Given the description of an element on the screen output the (x, y) to click on. 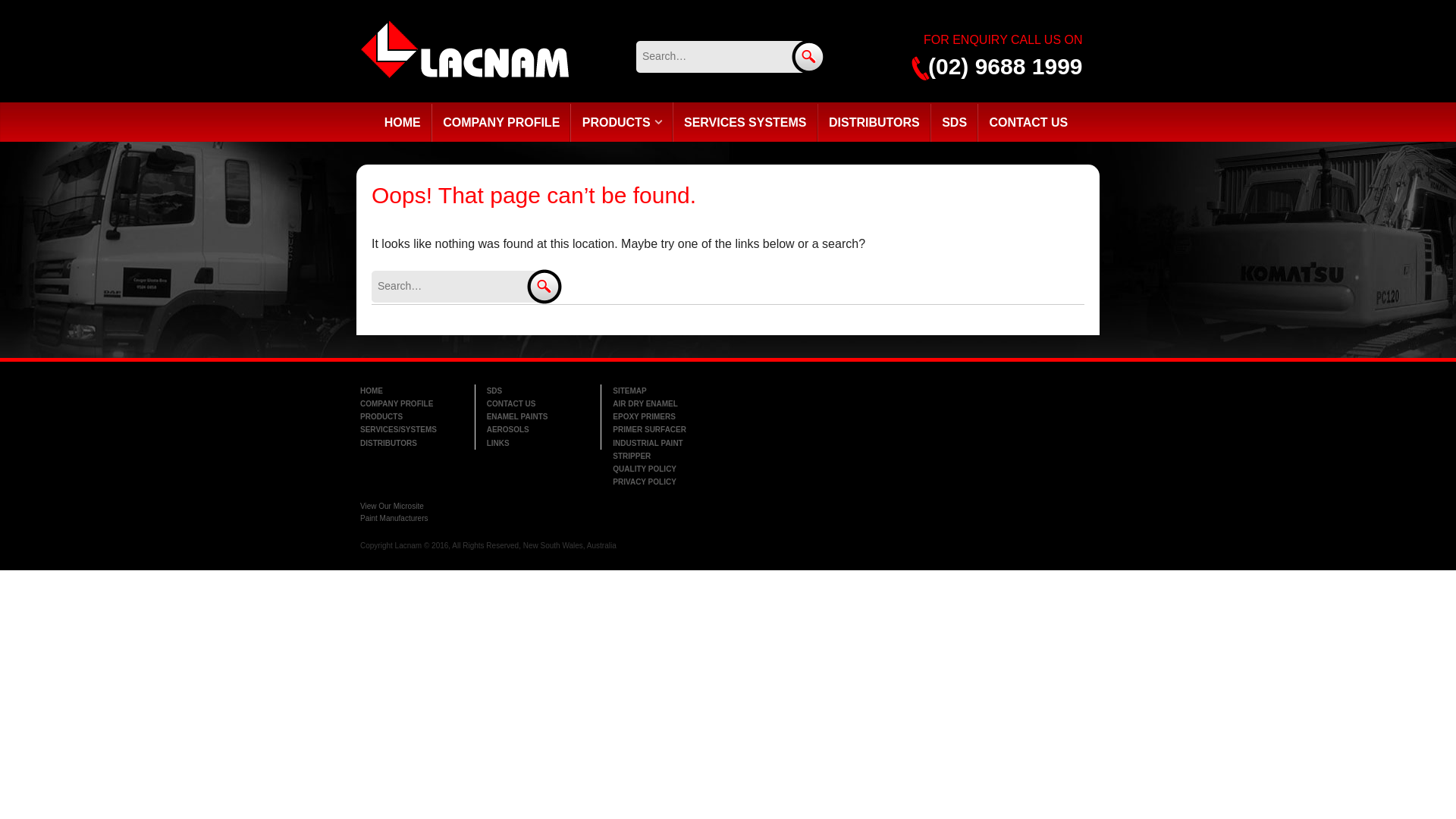
PRIMER SURFACER Element type: text (664, 429)
EPOXY PRIMERS Element type: text (664, 416)
HOME Element type: text (411, 390)
ENAMEL PAINTS Element type: text (537, 416)
LINKS Element type: text (537, 442)
DISTRIBUTORS Element type: text (876, 122)
SDS Element type: text (537, 390)
PRODUCTS Element type: text (623, 122)
QUALITY POLICY Element type: text (664, 468)
PRIVACY POLICY Element type: text (664, 481)
SERVICES SYSTEMS Element type: text (747, 122)
CONTACT US Element type: text (1030, 122)
AEROSOLS Element type: text (537, 429)
COMPANY PROFILE Element type: text (411, 403)
SITEMAP Element type: text (664, 390)
Paint Manufacturers Element type: text (394, 518)
INDUSTRIAL PAINT STRIPPER Element type: text (664, 449)
SDS Element type: text (956, 122)
DISTRIBUTORS Element type: text (411, 442)
CONTACT US Element type: text (537, 403)
AIR DRY ENAMEL Element type: text (664, 403)
HOME Element type: text (404, 122)
PRODUCTS Element type: text (411, 416)
+1 Element type: hover (880, 391)
(02) 9688 1999 Element type: text (993, 65)
SERVICES/SYSTEMS Element type: text (411, 429)
COMPANY PROFILE Element type: text (503, 122)
